Given the description of an element on the screen output the (x, y) to click on. 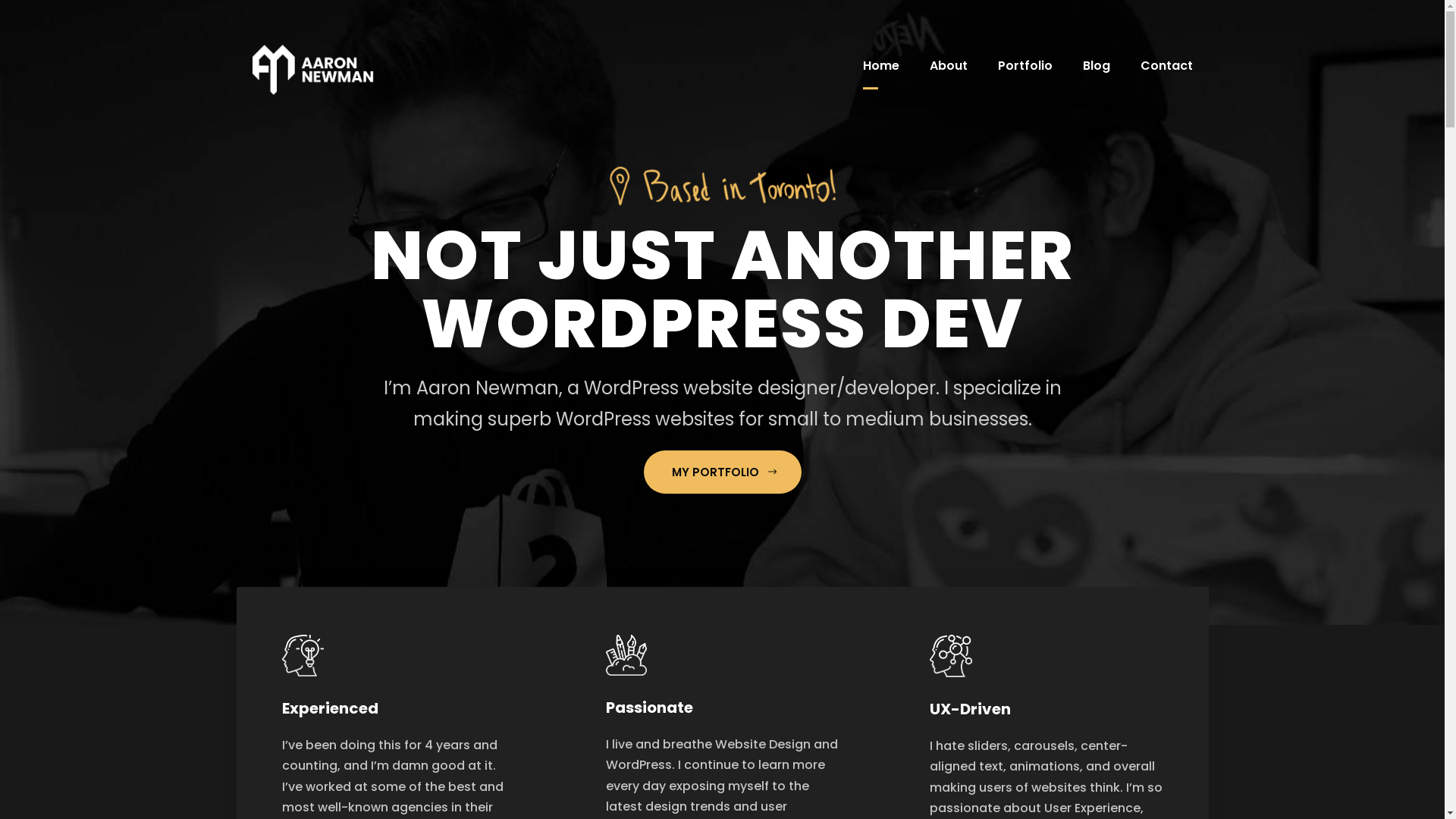
icon-intro-white-1 Element type: hover (302, 655)
Blog Element type: text (1096, 72)
AaronN-new-logo-svg Element type: hover (316, 69)
MY PORTFOLIO Element type: text (721, 471)
Portfolio Element type: text (1024, 72)
About Element type: text (948, 72)
Home Element type: text (880, 72)
icon-intro-white-3 Element type: hover (950, 655)
Contact Element type: text (1166, 72)
icon-intro-white-2 Element type: hover (625, 654)
